Given the description of an element on the screen output the (x, y) to click on. 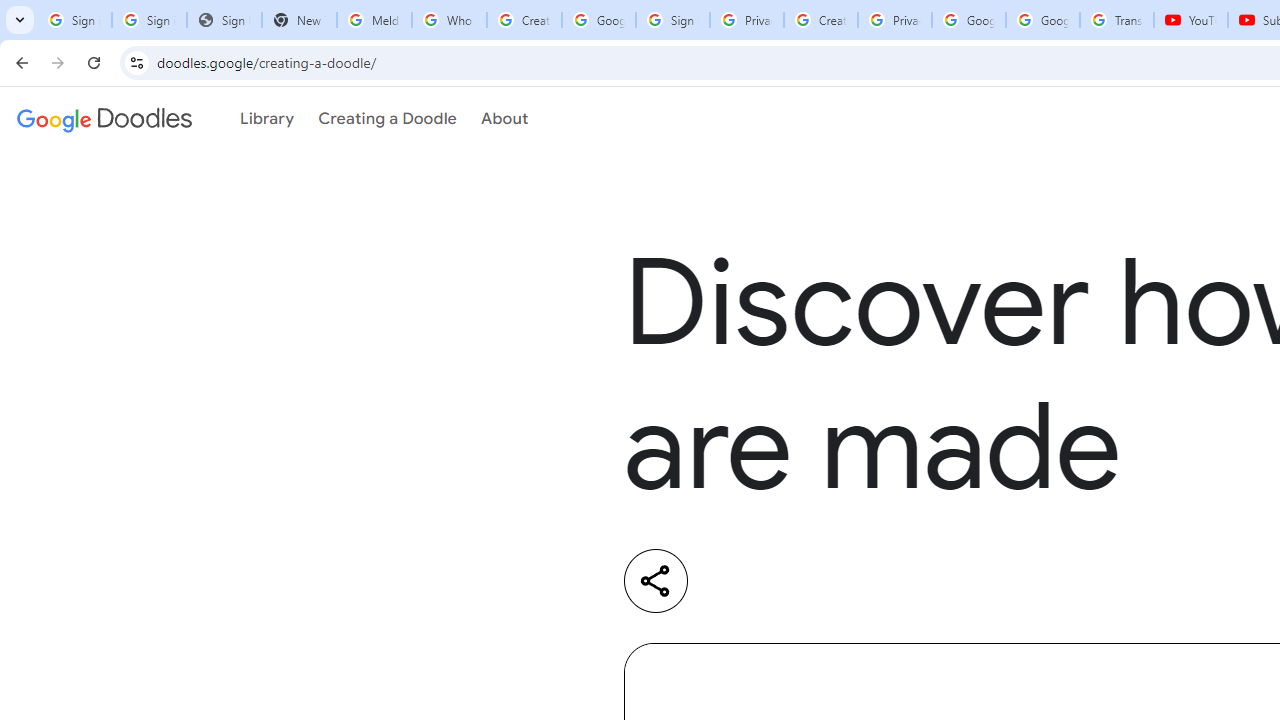
Create your Google Account (820, 20)
Sign In - USA TODAY (224, 20)
Sign in - Google Accounts (673, 20)
